Given the description of an element on the screen output the (x, y) to click on. 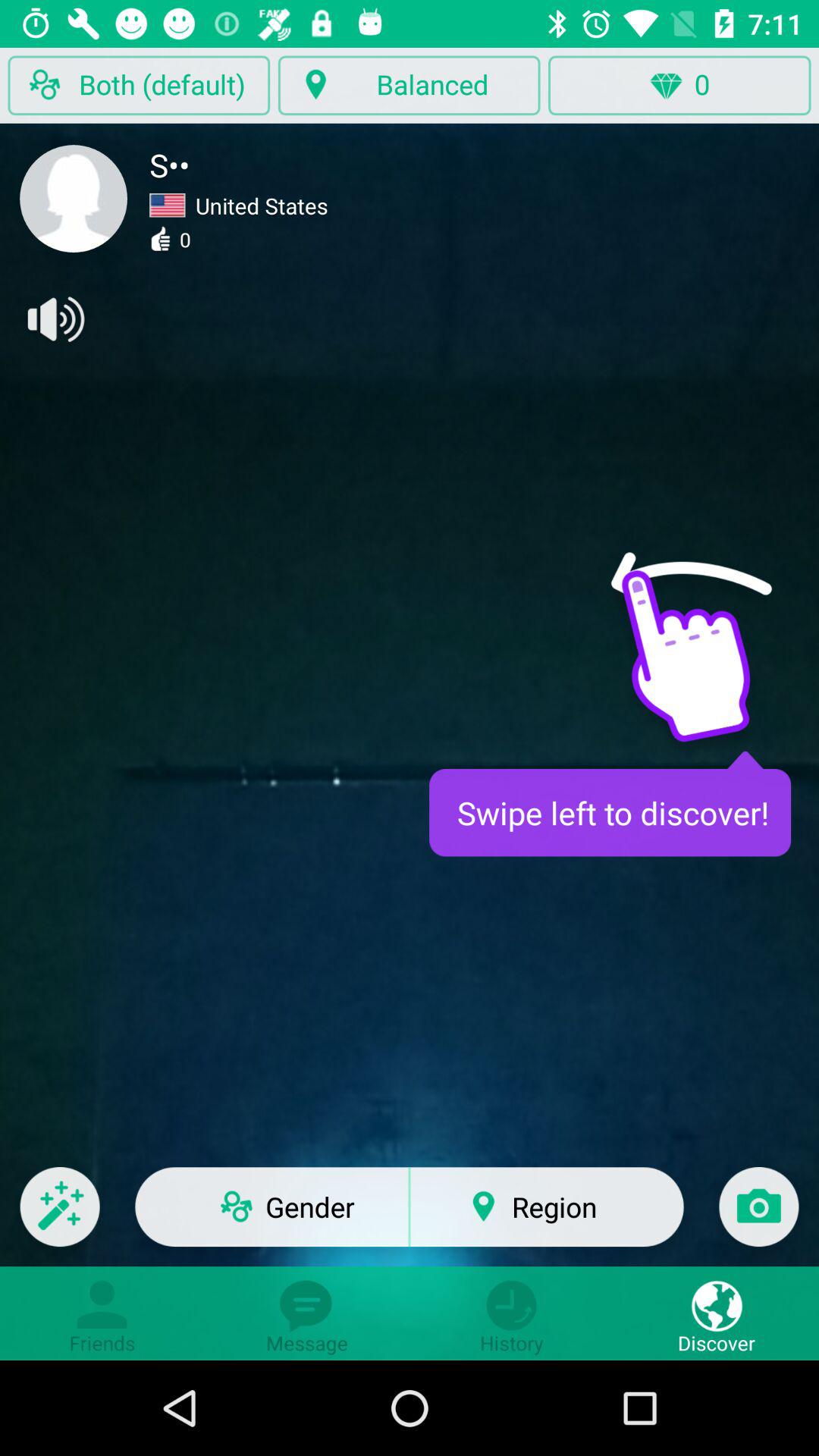
go to camera (758, 1216)
